Given the description of an element on the screen output the (x, y) to click on. 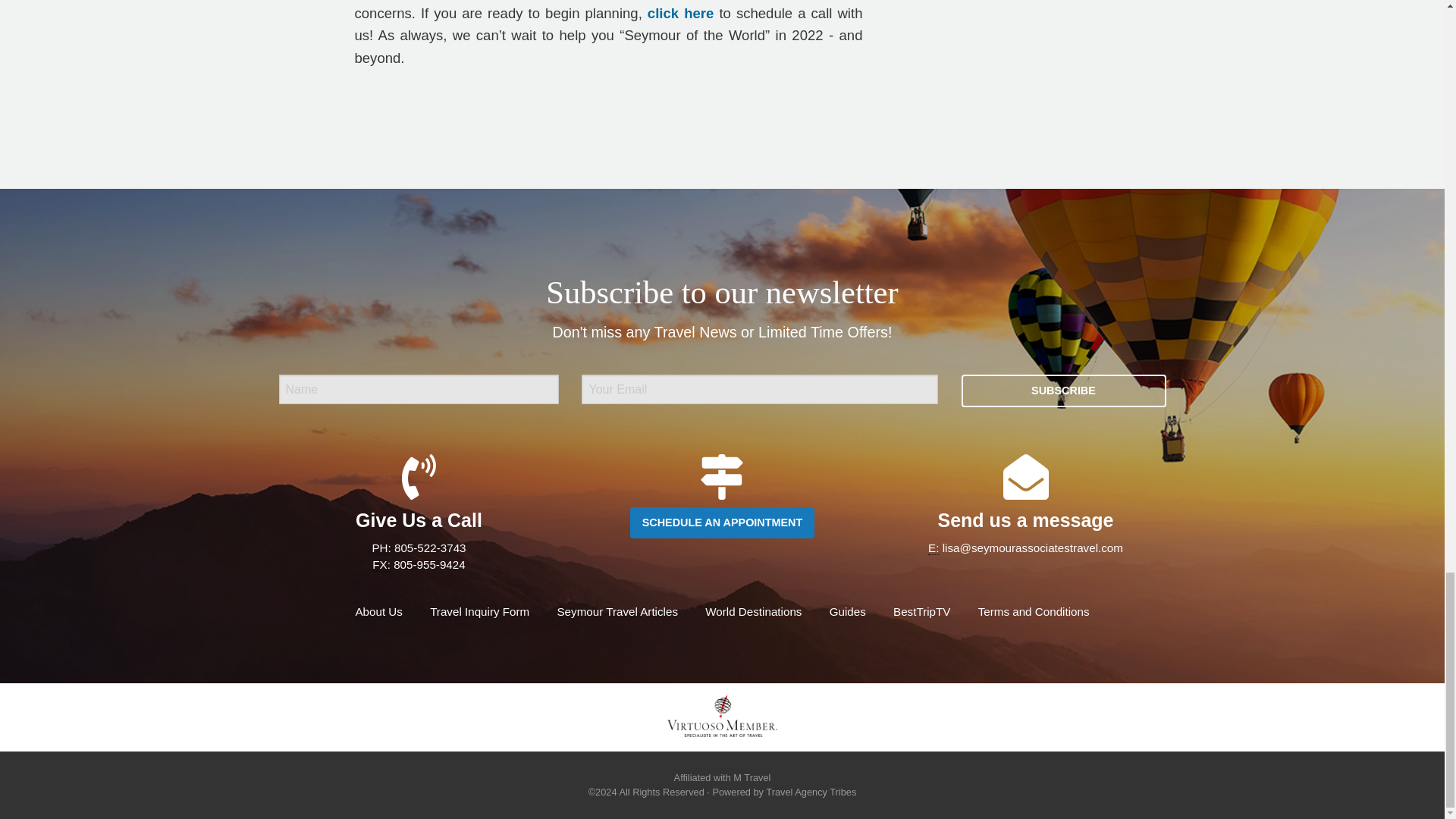
Phone (380, 548)
Virtuoso Member (721, 716)
Fax (381, 564)
Subscribe (1063, 390)
click here (680, 12)
